Given the description of an element on the screen output the (x, y) to click on. 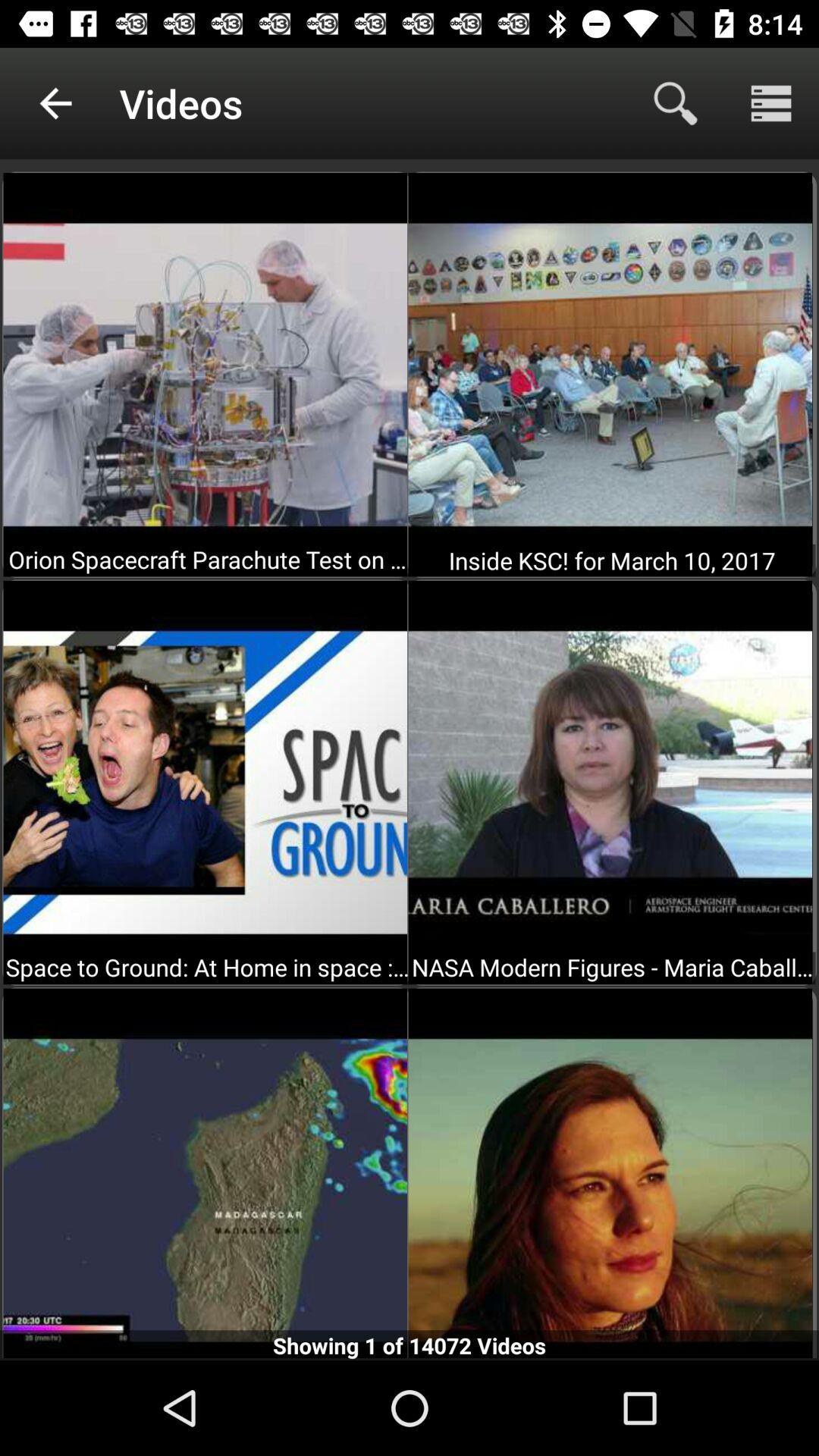
click app next to videos item (675, 103)
